Given the description of an element on the screen output the (x, y) to click on. 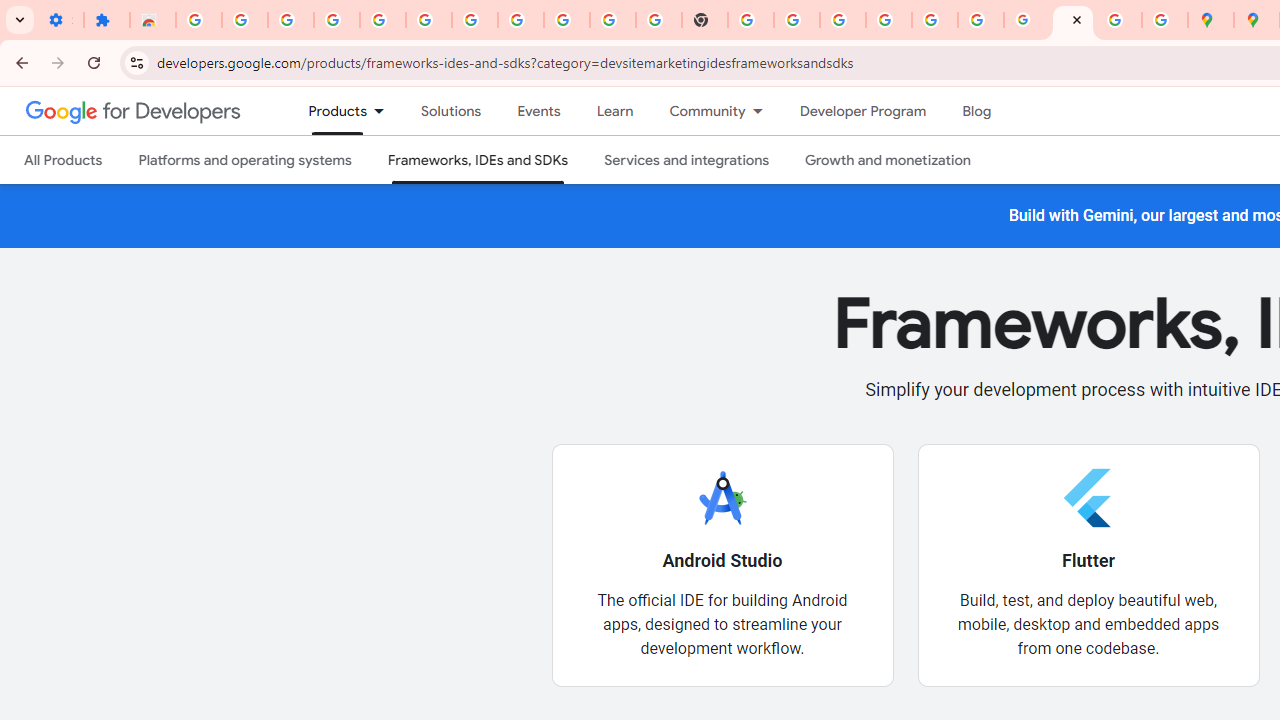
Dropdown menu for Community (763, 111)
Products, selected (329, 111)
Sign in - Google Accounts (474, 20)
Frameworks, IDEs and SDKs - Google for Developers (1072, 20)
Developer Program (862, 111)
Frameworks, IDEs and SDKs, selected (477, 160)
Learning Catalog (614, 111)
Growth and monetization (888, 160)
Delete photos & videos - Computer - Google Photos Help (336, 20)
